Given the description of an element on the screen output the (x, y) to click on. 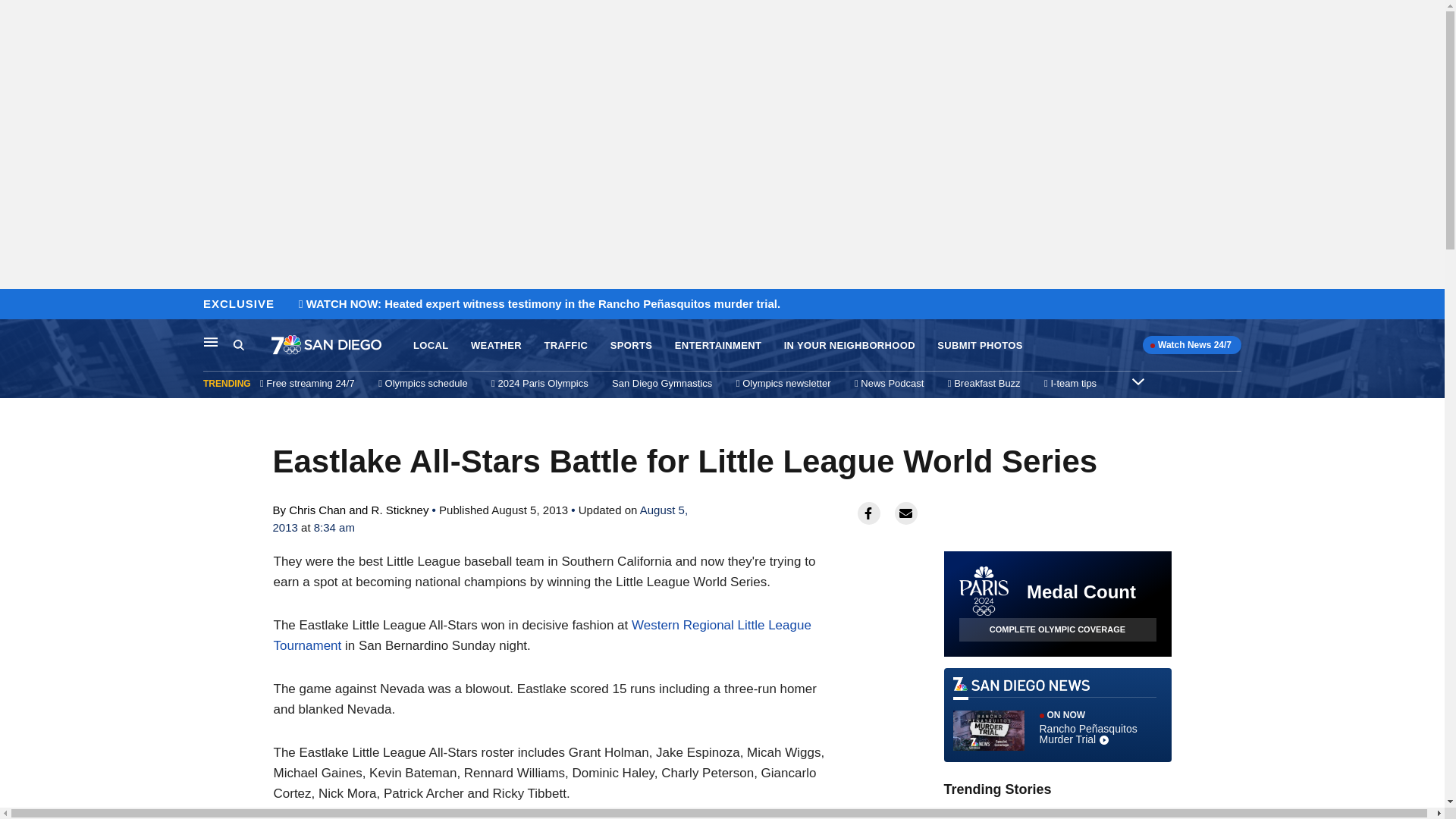
Expand (1138, 381)
SUBMIT PHOTOS (979, 345)
Main Navigation (210, 341)
Search (252, 345)
Skip to content (16, 304)
SPORTS (631, 345)
LOCAL (430, 345)
WEATHER (495, 345)
IN YOUR NEIGHBORHOOD (849, 345)
TRAFFIC (565, 345)
COMPLETE OLYMPIC COVERAGE (1057, 629)
ENTERTAINMENT (718, 345)
San Diego Gymnastics (661, 383)
2024 PARIS OLYMPICS (1069, 811)
Western Regional Little League Tournament (541, 635)
